Given the description of an element on the screen output the (x, y) to click on. 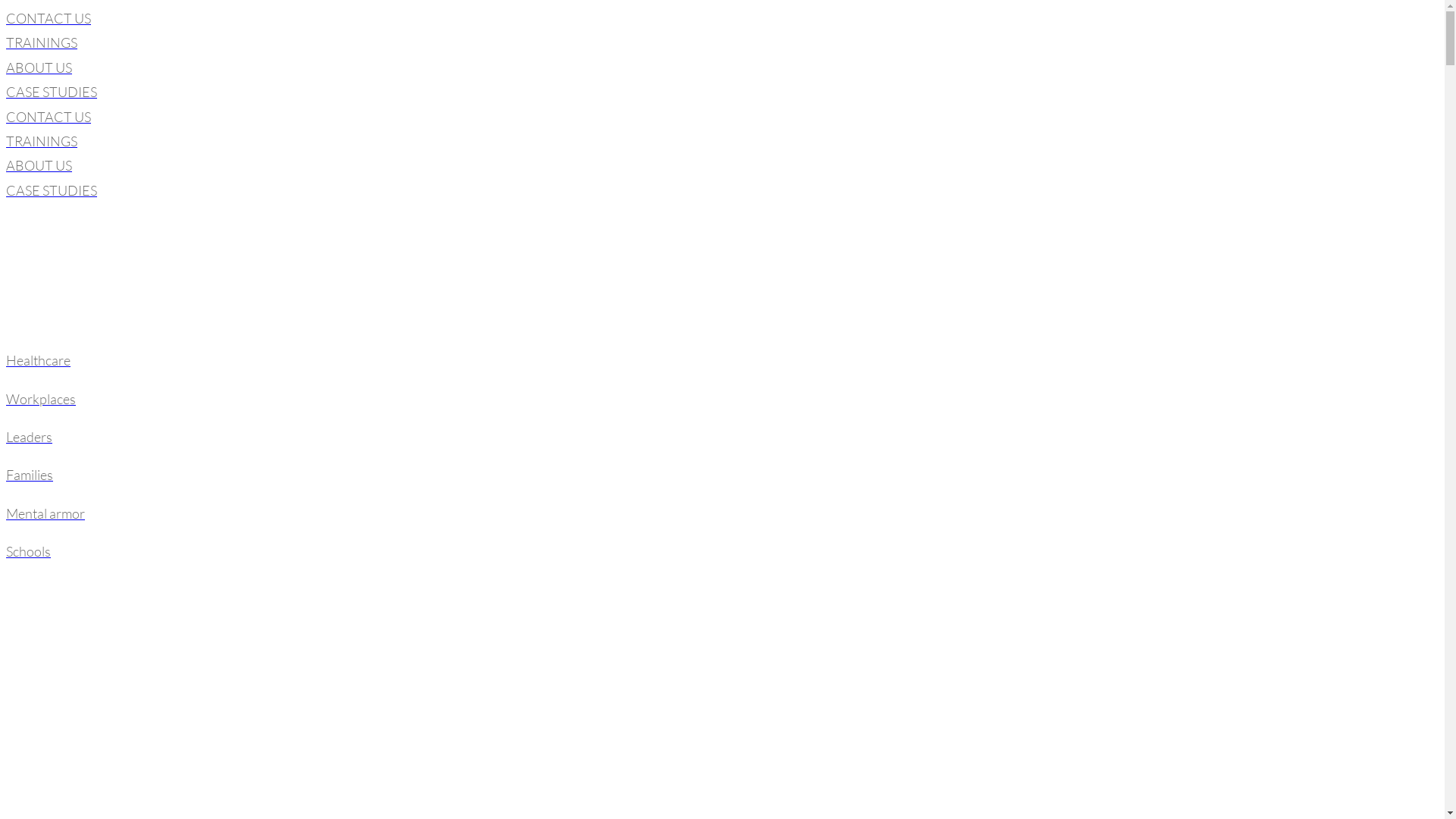
CASE STUDIES Element type: text (722, 190)
CASE STUDIES Element type: text (722, 91)
Leaders Element type: text (722, 436)
CONTACT US Element type: text (722, 116)
CONTACT US Element type: text (722, 18)
TRAININGS Element type: text (722, 42)
Families Element type: text (722, 474)
Mental armor Element type: text (722, 513)
ABOUT US Element type: text (722, 67)
Workplaces Element type: text (722, 398)
Schools Element type: text (722, 551)
Healthcare Element type: text (722, 360)
ABOUT US Element type: text (722, 165)
TRAININGS Element type: text (722, 140)
